Given the description of an element on the screen output the (x, y) to click on. 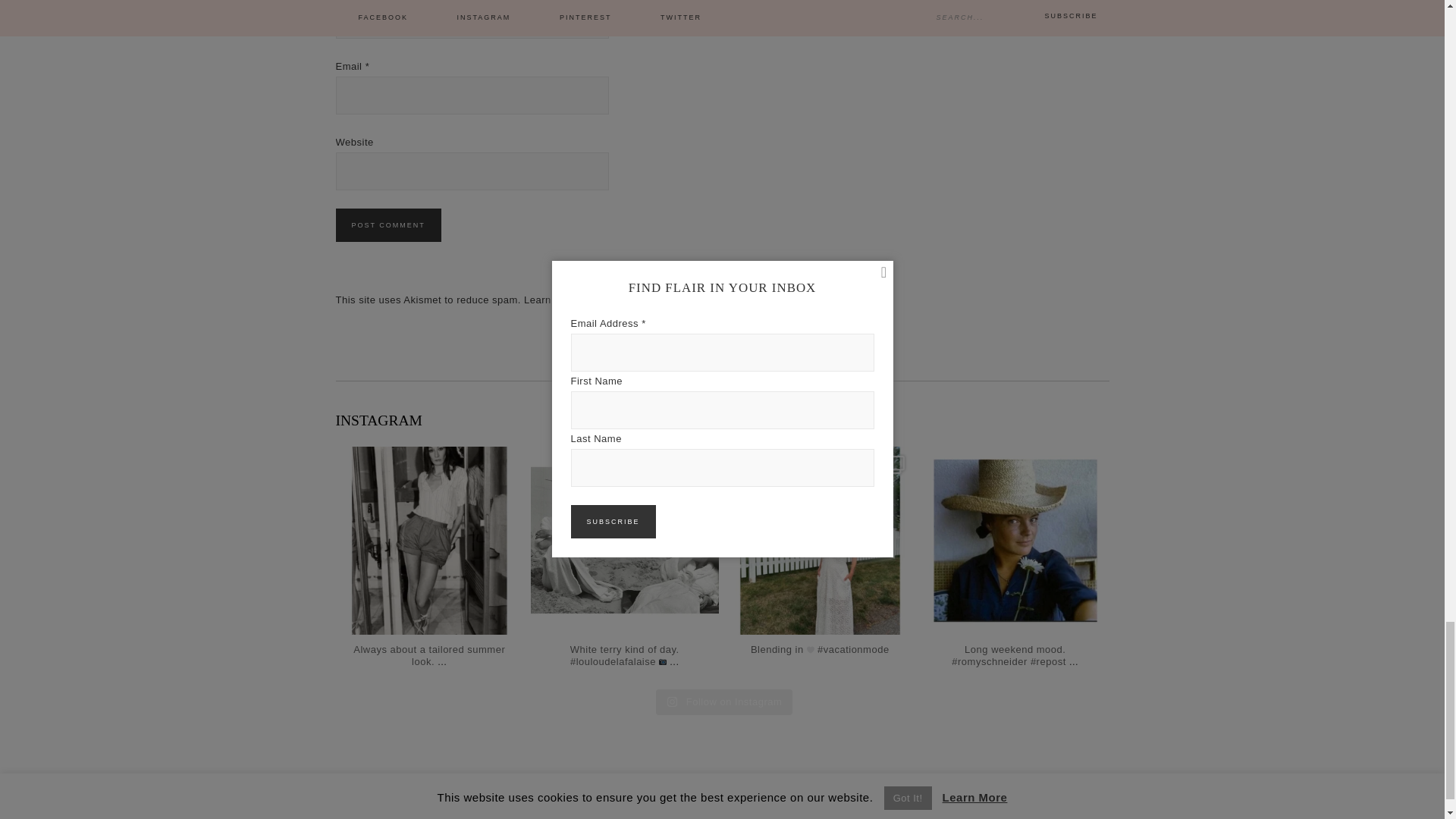
Post Comment (387, 224)
Post Comment (387, 224)
Learn how your comment data is processed (627, 299)
